Given the description of an element on the screen output the (x, y) to click on. 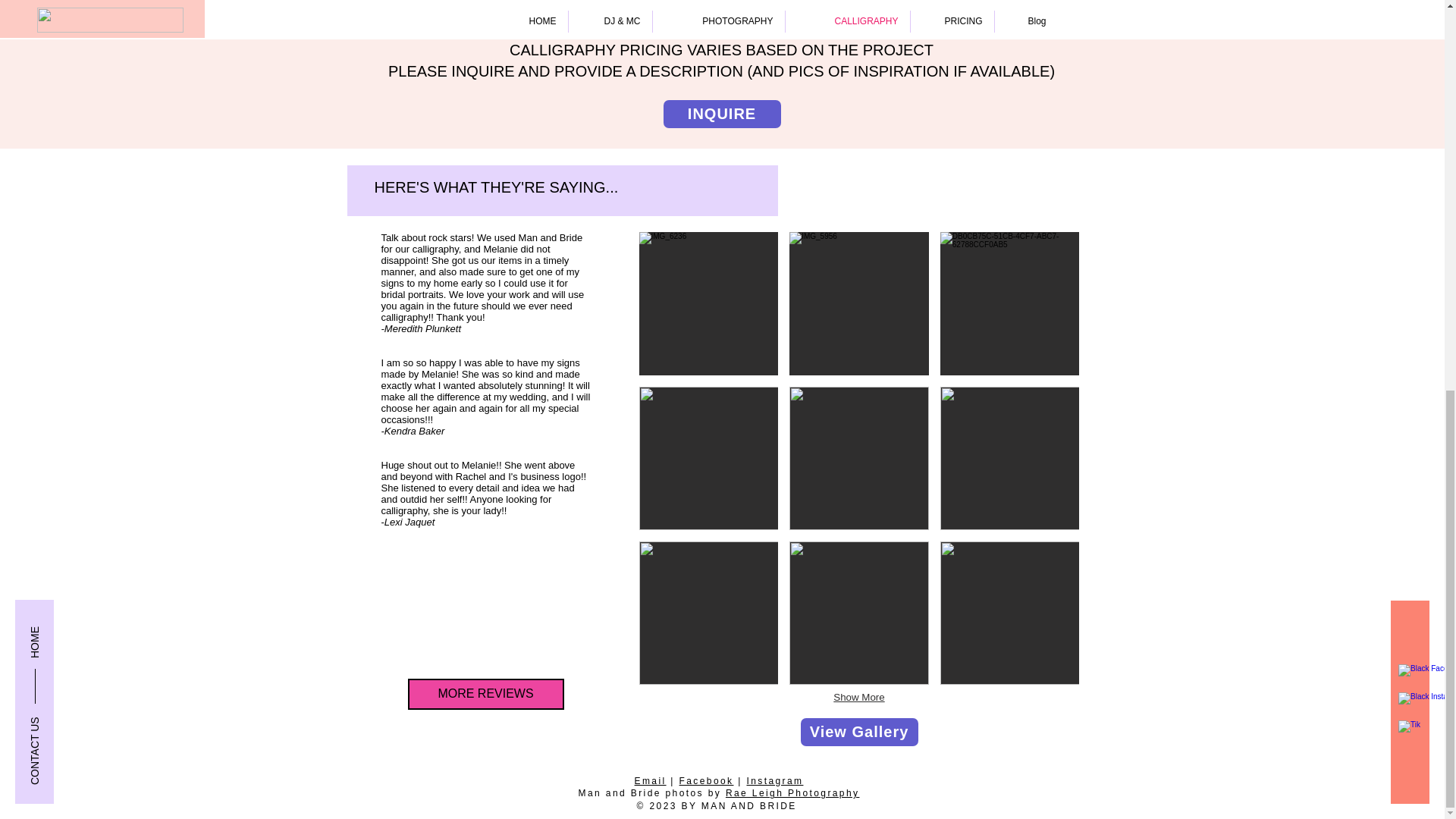
View Gallery (859, 732)
INQUIRE (721, 113)
MORE REVIEWS (485, 694)
Show More (858, 698)
